Given the description of an element on the screen output the (x, y) to click on. 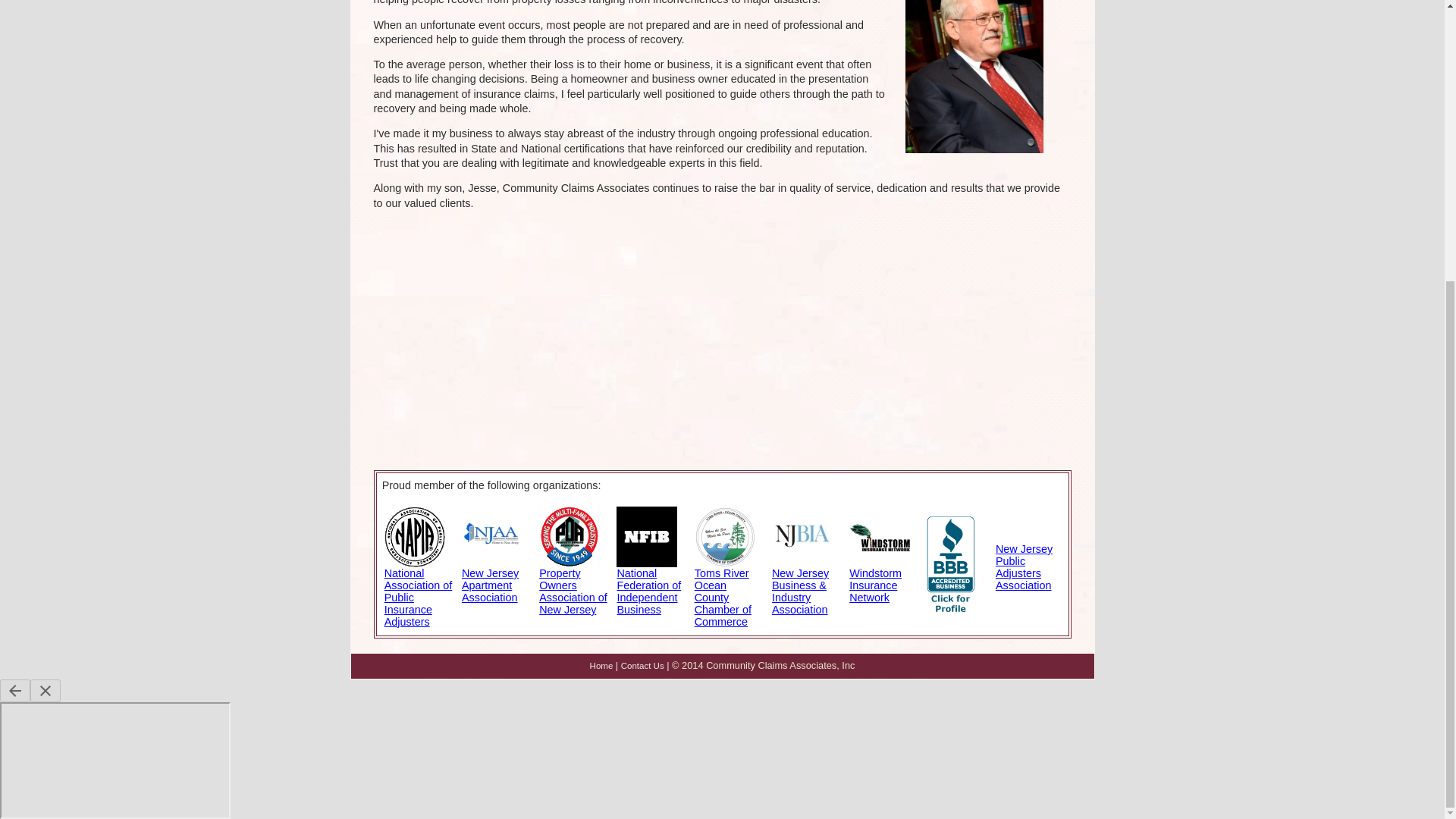
National Federation of Independent Business (648, 591)
Toms River Ocean County Chamber of Commerce (722, 597)
National Association of Public Insurance Adjusters (418, 597)
Contact Us (642, 665)
New Jersey Apartment Association (489, 585)
Windstorm Insurance Network (874, 585)
Home (600, 665)
Property Owners Association of New Jersey (572, 591)
New Jersey Public Adjusters Association (1023, 566)
